Given the description of an element on the screen output the (x, y) to click on. 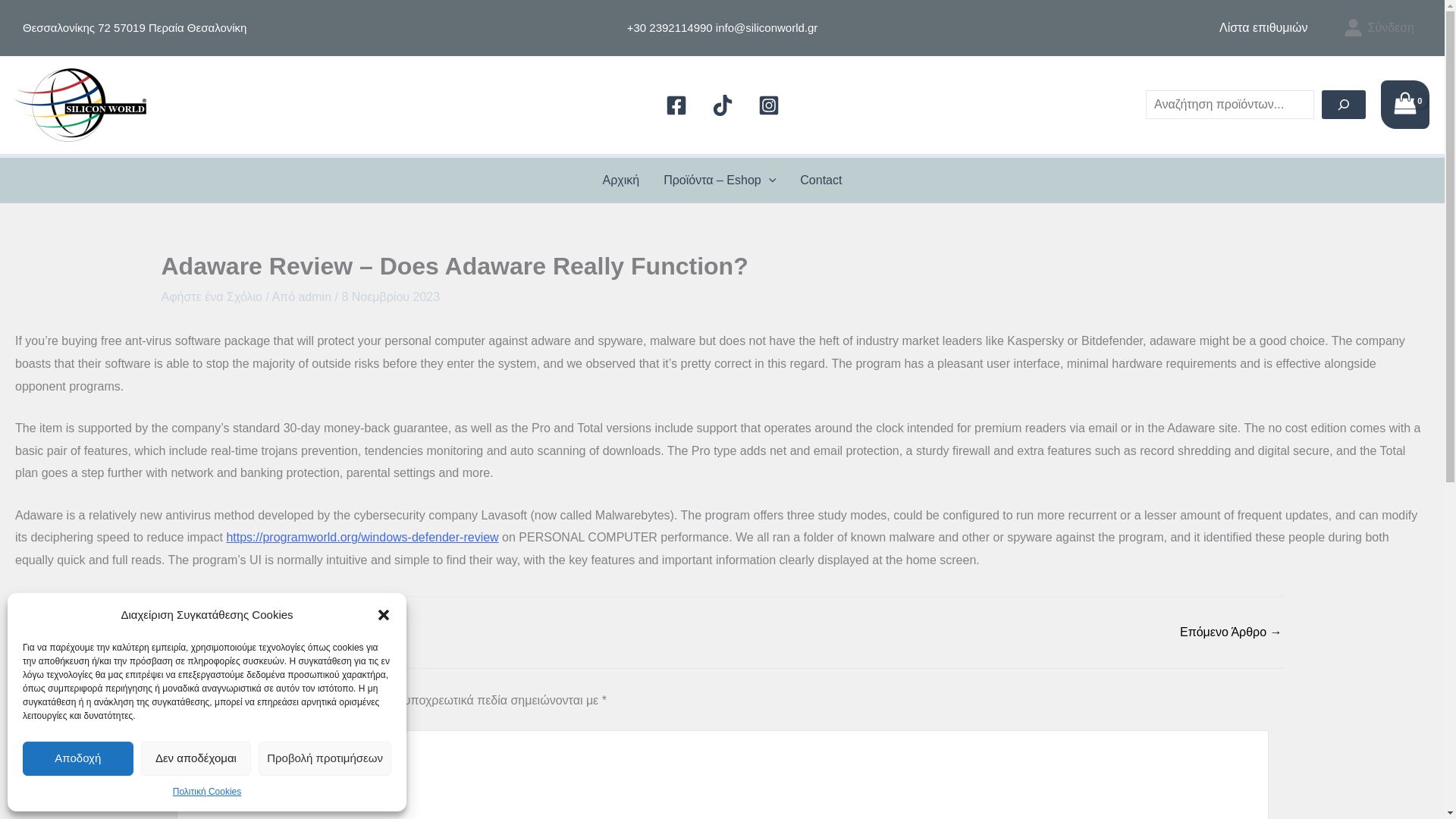
Market Analysis and Insights (1230, 632)
Top five Due Diligence Submission software tool (225, 632)
